Given the description of an element on the screen output the (x, y) to click on. 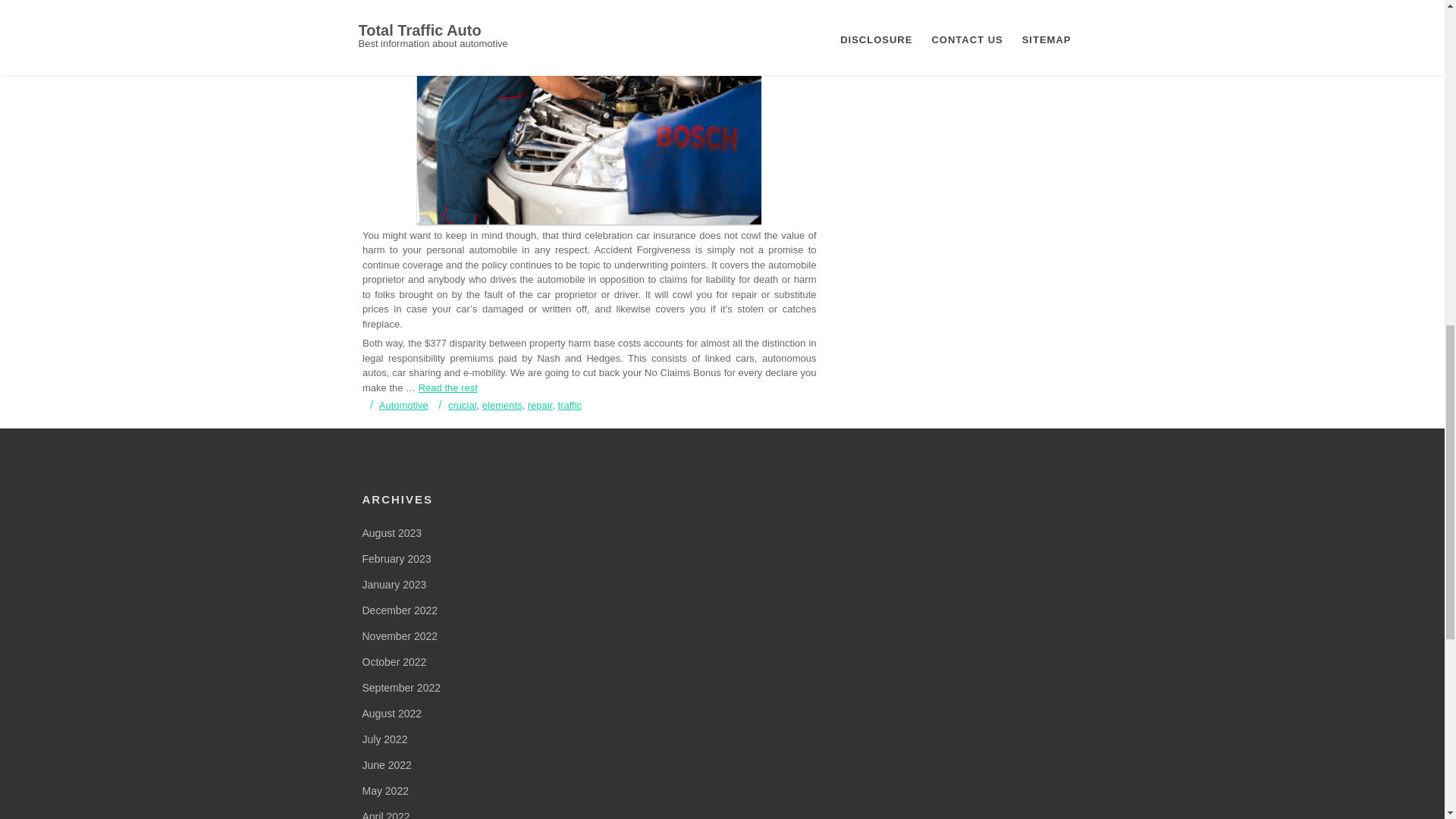
elements (511, 383)
Read the rest (467, 360)
5 Crucial Elements For Car Repair from Total Traffic Auto (623, 11)
Automotive (425, 379)
repair (544, 385)
crucial (475, 381)
traffic (571, 387)
